Given the description of an element on the screen output the (x, y) to click on. 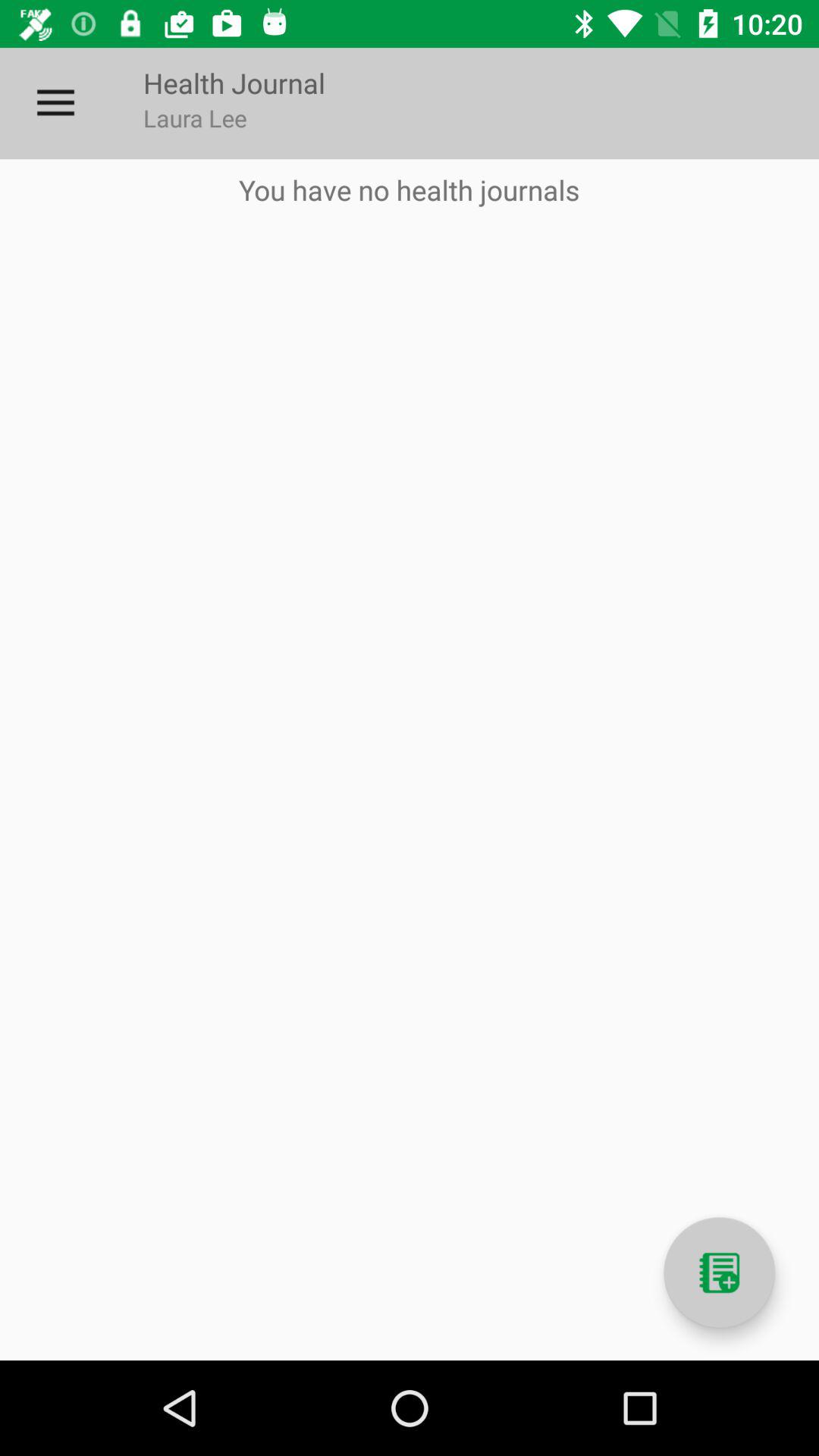
choose the icon next to health journal item (55, 103)
